Given the description of an element on the screen output the (x, y) to click on. 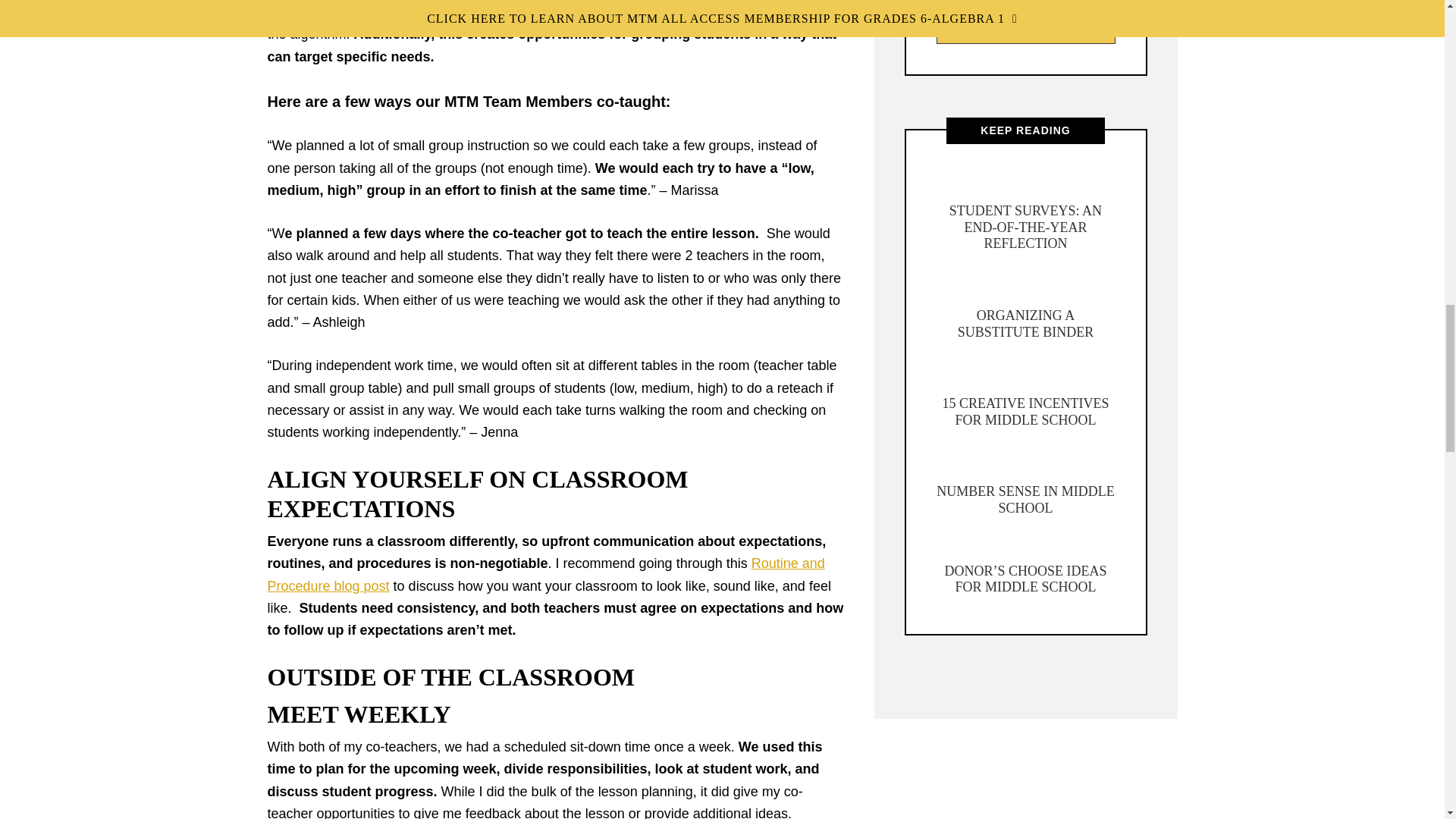
Routine and Procedure blog post (545, 574)
Number Sense in Middle School (1025, 499)
Student Surveys: An End-of-the-Year Reflection (1025, 226)
15 Creative Incentives for Middle School (1025, 411)
Organizing a Substitute Binder (1026, 323)
Get It! (1025, 31)
